Given the description of an element on the screen output the (x, y) to click on. 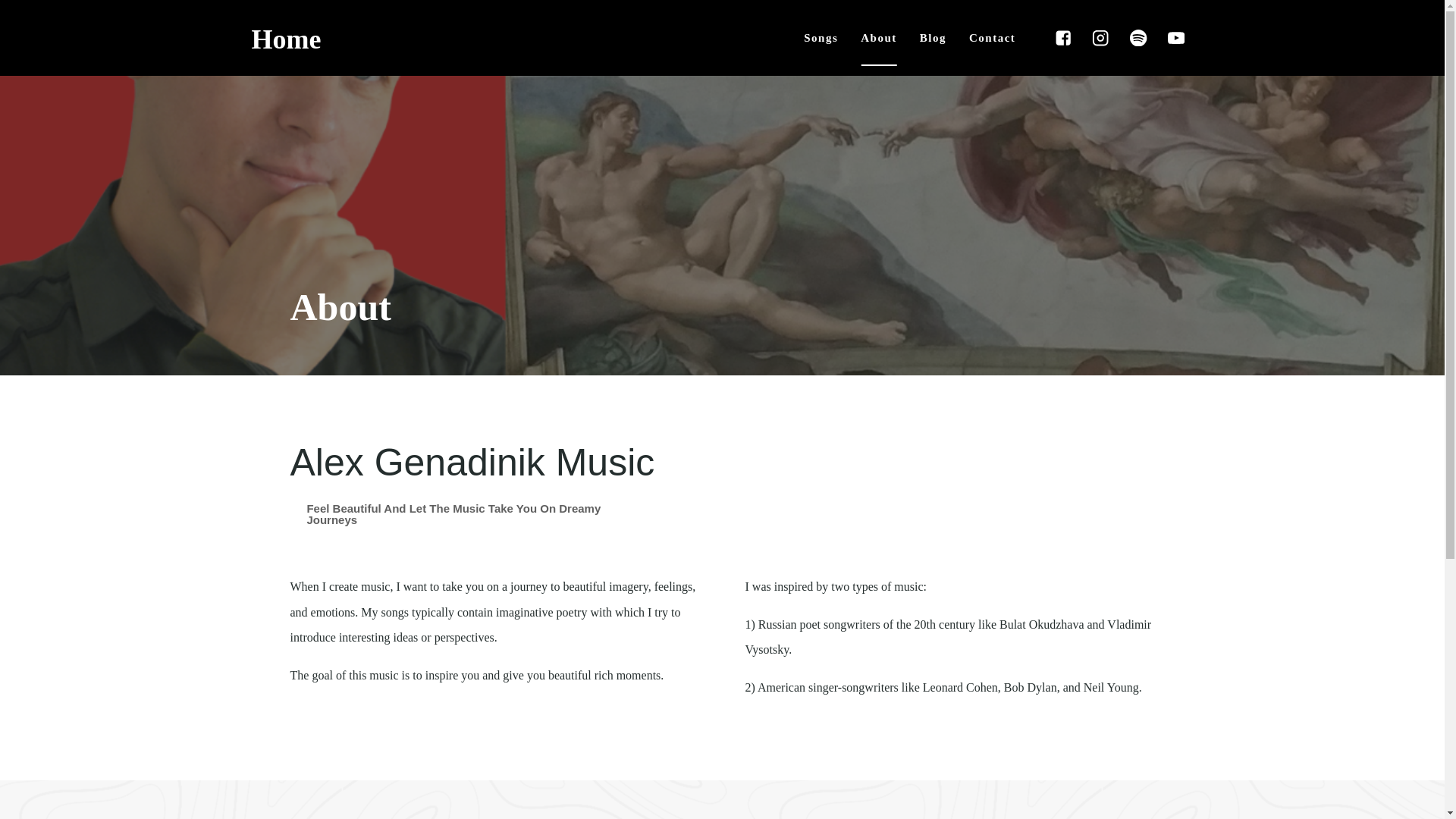
About (878, 37)
Songs (820, 37)
Home (286, 42)
Blog (933, 37)
Contact (992, 37)
